Given the description of an element on the screen output the (x, y) to click on. 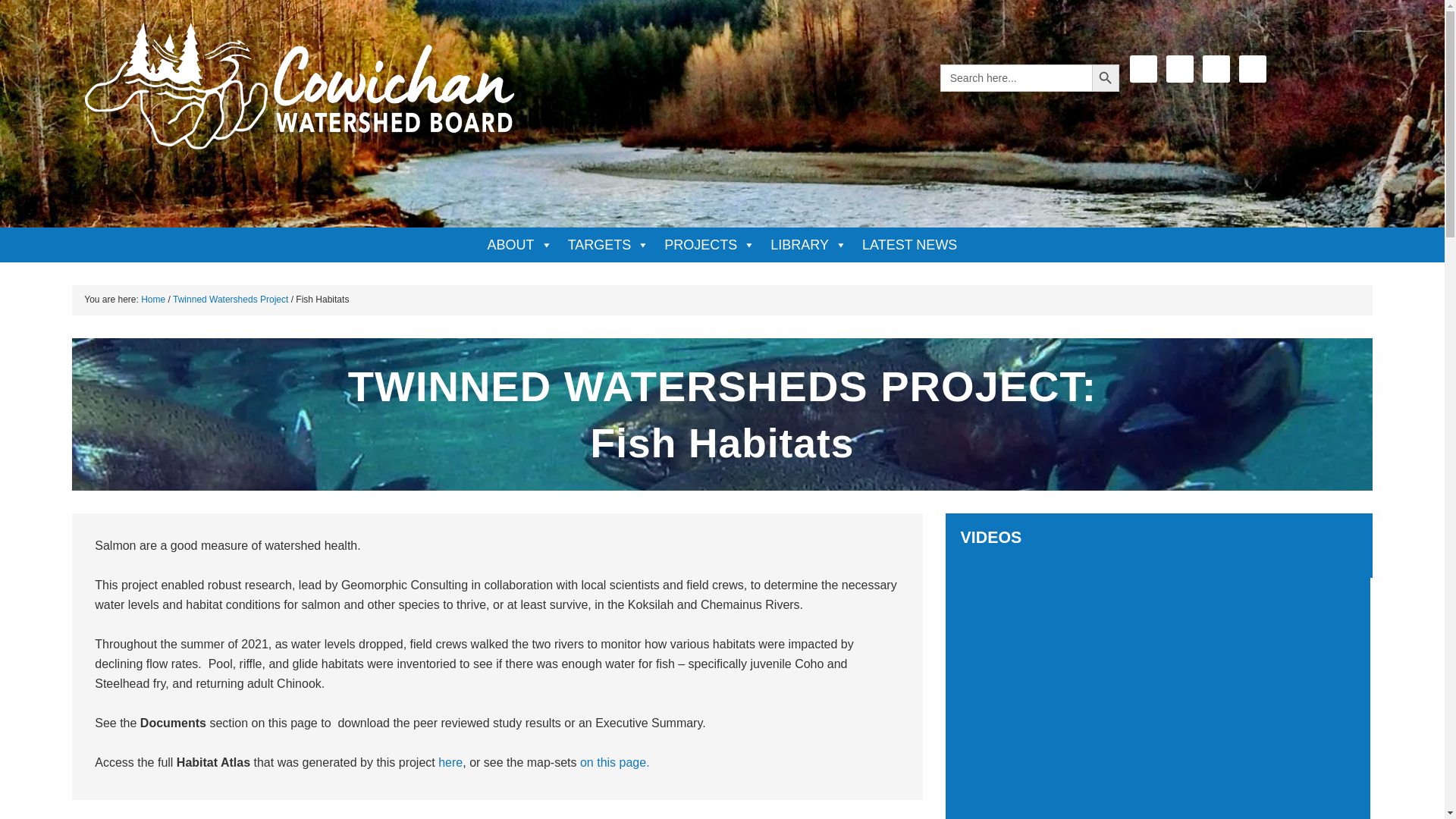
PROJECTS (709, 244)
YouTube video (1158, 696)
ABOUT (520, 244)
SEARCH BUTTON (1105, 77)
LIBRARY (808, 244)
TARGETS (609, 244)
COWICHAN WATERSHED BOARD (299, 91)
